Given the description of an element on the screen output the (x, y) to click on. 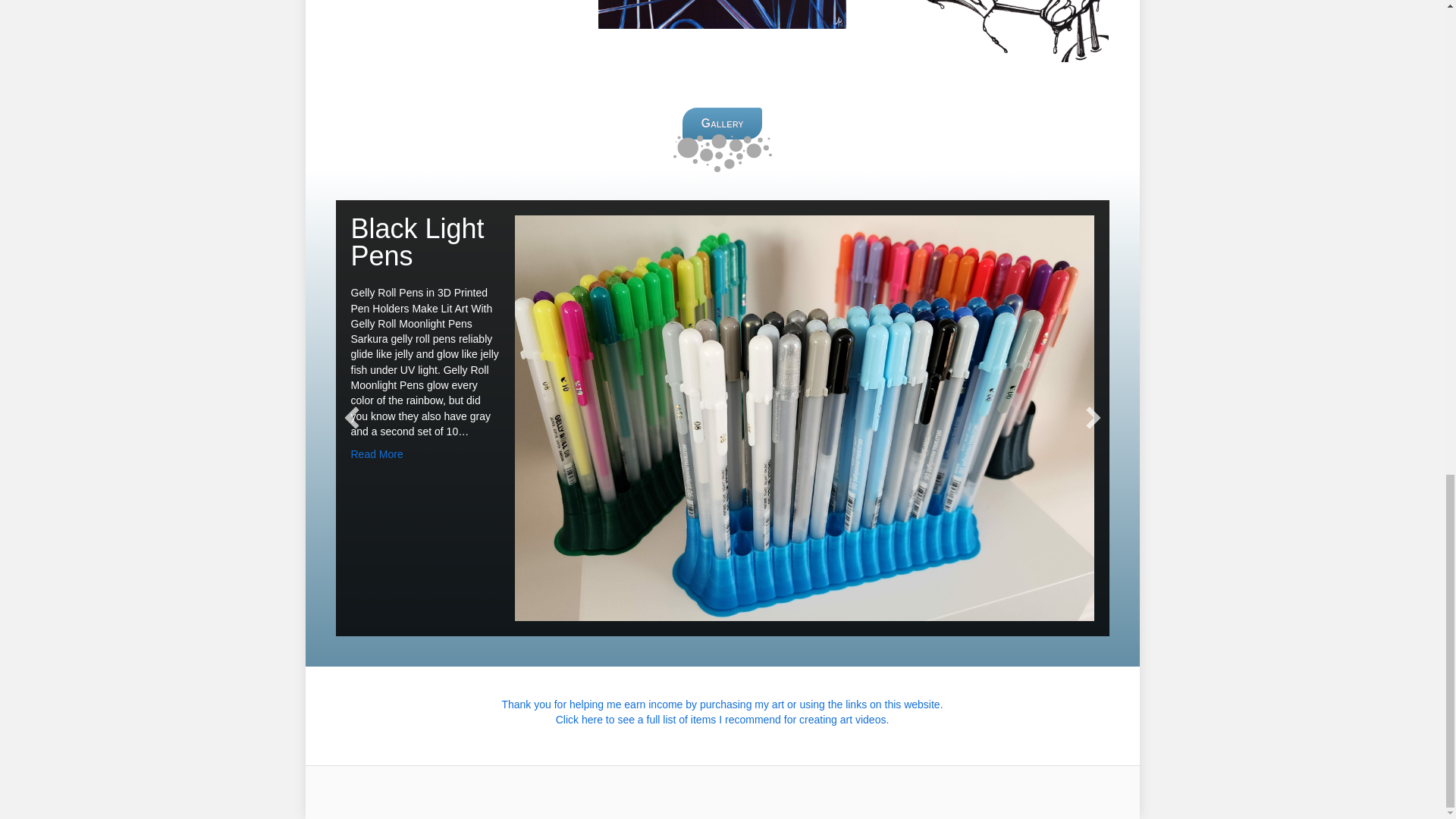
Black Light Pens (416, 241)
Black Light Pens (416, 241)
Trifecta (721, 14)
Read More (376, 453)
The Catch (985, 31)
Gallery (721, 123)
